Given the description of an element on the screen output the (x, y) to click on. 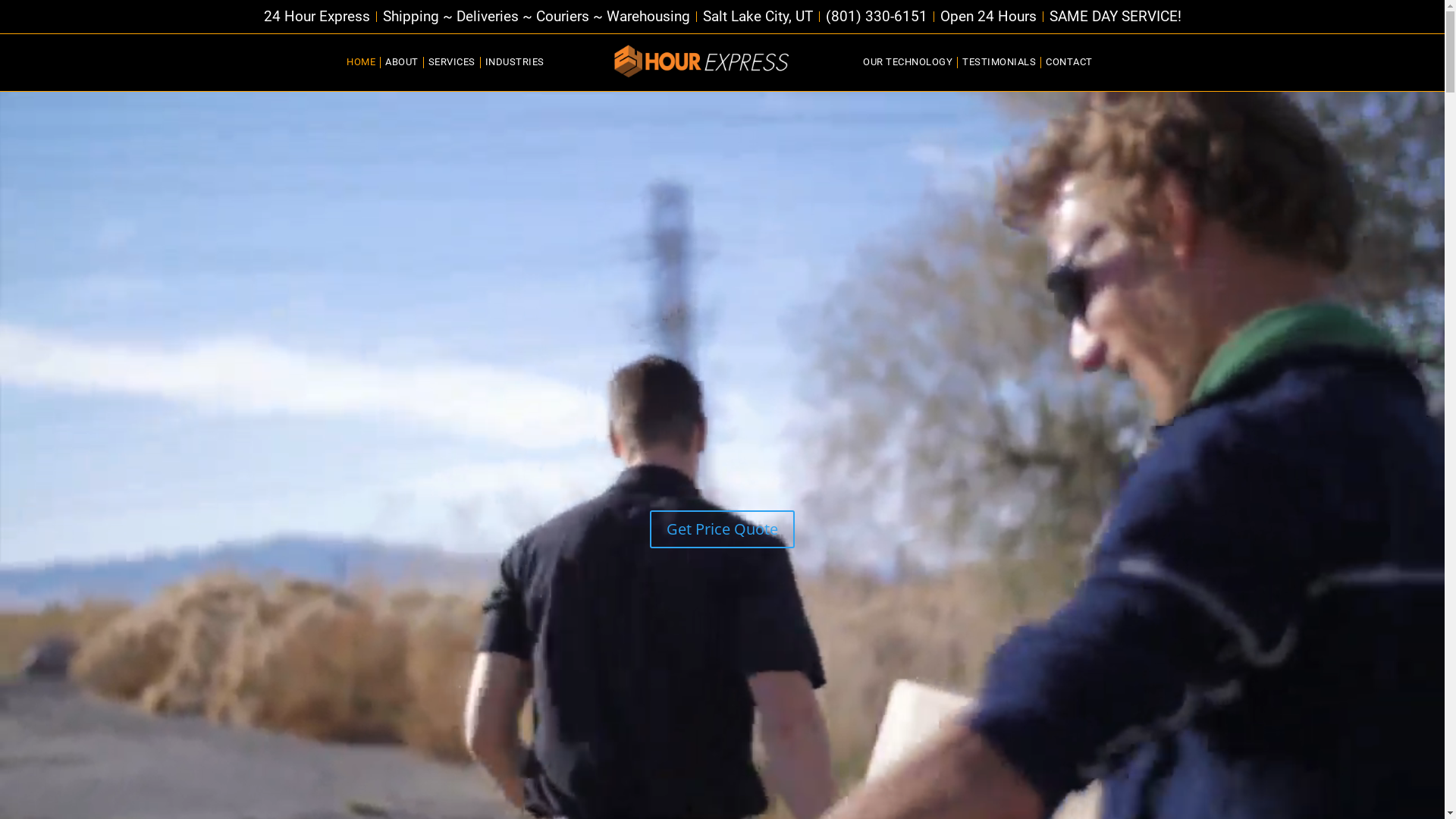
SERVICES Element type: text (451, 61)
OUR TECHNOLOGY Element type: text (907, 61)
TESTIMONIALS Element type: text (998, 61)
(801) 330-6151 Element type: text (875, 16)
ABOUT Element type: text (401, 61)
Get Price Quote Element type: text (721, 529)
INDUSTRIES Element type: text (514, 61)
CONTACT Element type: text (1068, 61)
HOME Element type: text (360, 61)
